Given the description of an element on the screen output the (x, y) to click on. 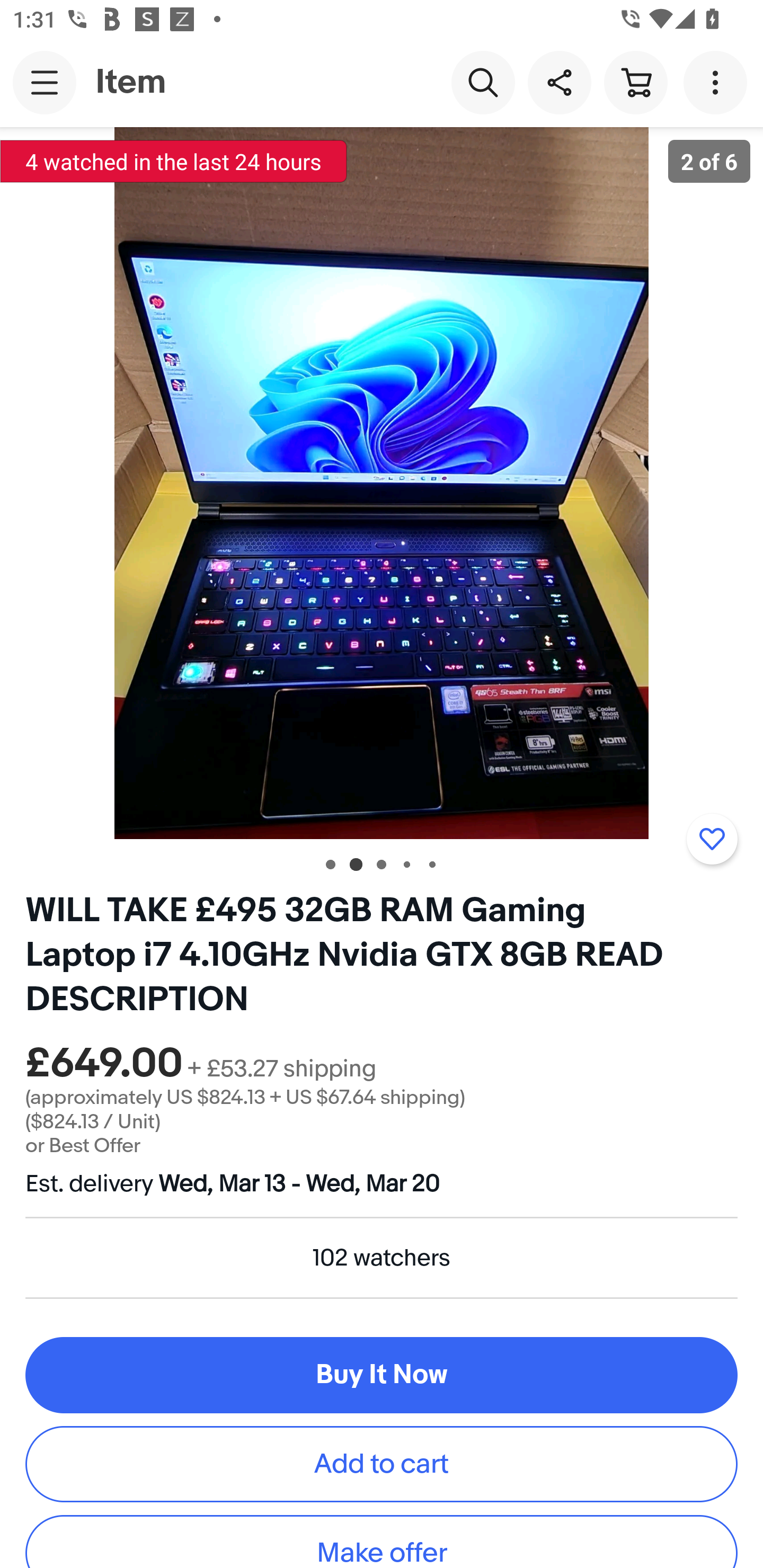
Main navigation, open (44, 82)
Search (482, 81)
Share this item (559, 81)
Cart button shopping cart (635, 81)
More options (718, 81)
Item image 2 of 6 (381, 482)
4 watched in the last 24 hours (173, 161)
Add to watchlist (711, 838)
Buy It Now (381, 1374)
Add to cart (381, 1463)
Make offer (381, 1541)
